Given the description of an element on the screen output the (x, y) to click on. 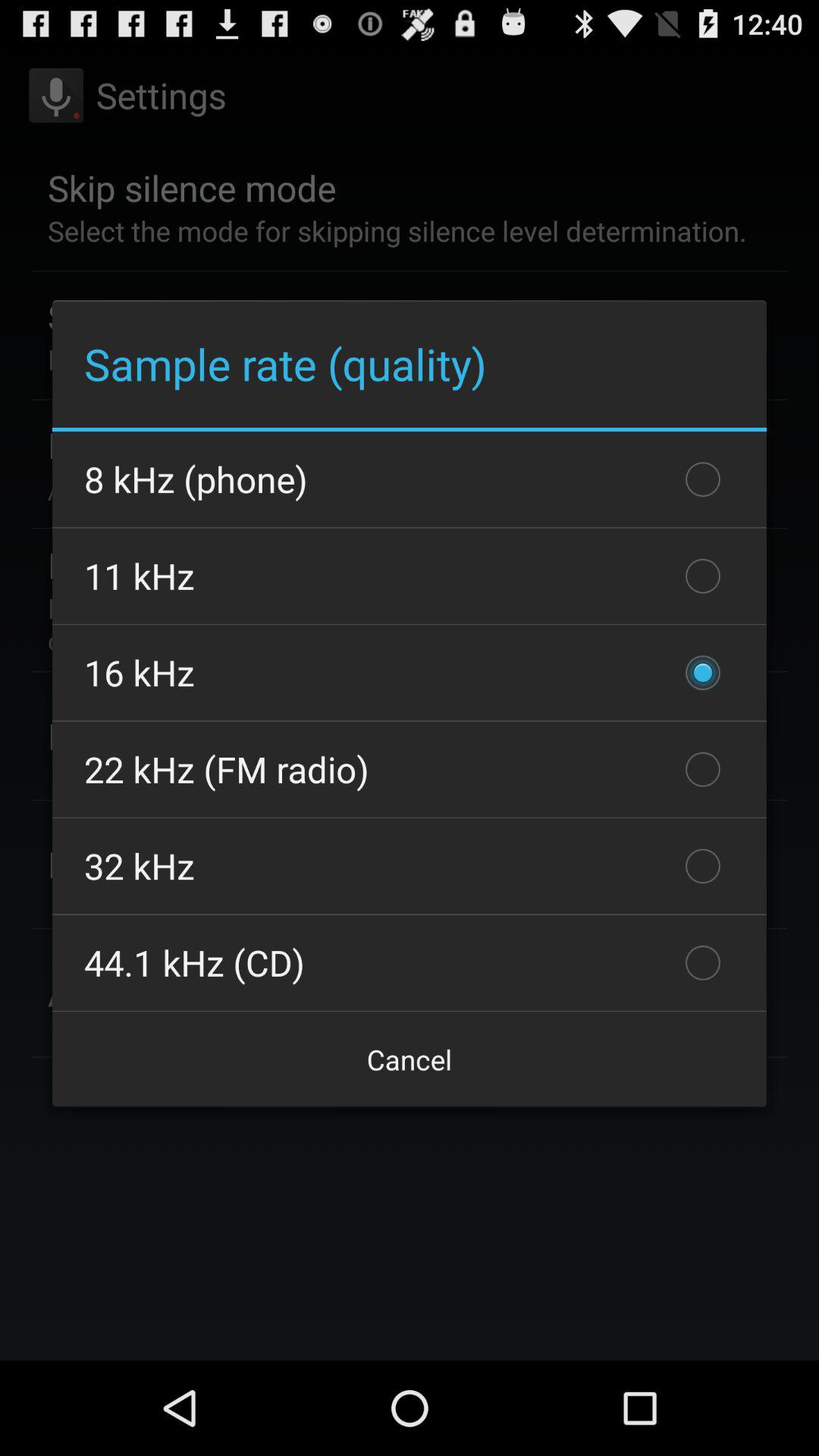
choose cancel button (409, 1059)
